Given the description of an element on the screen output the (x, y) to click on. 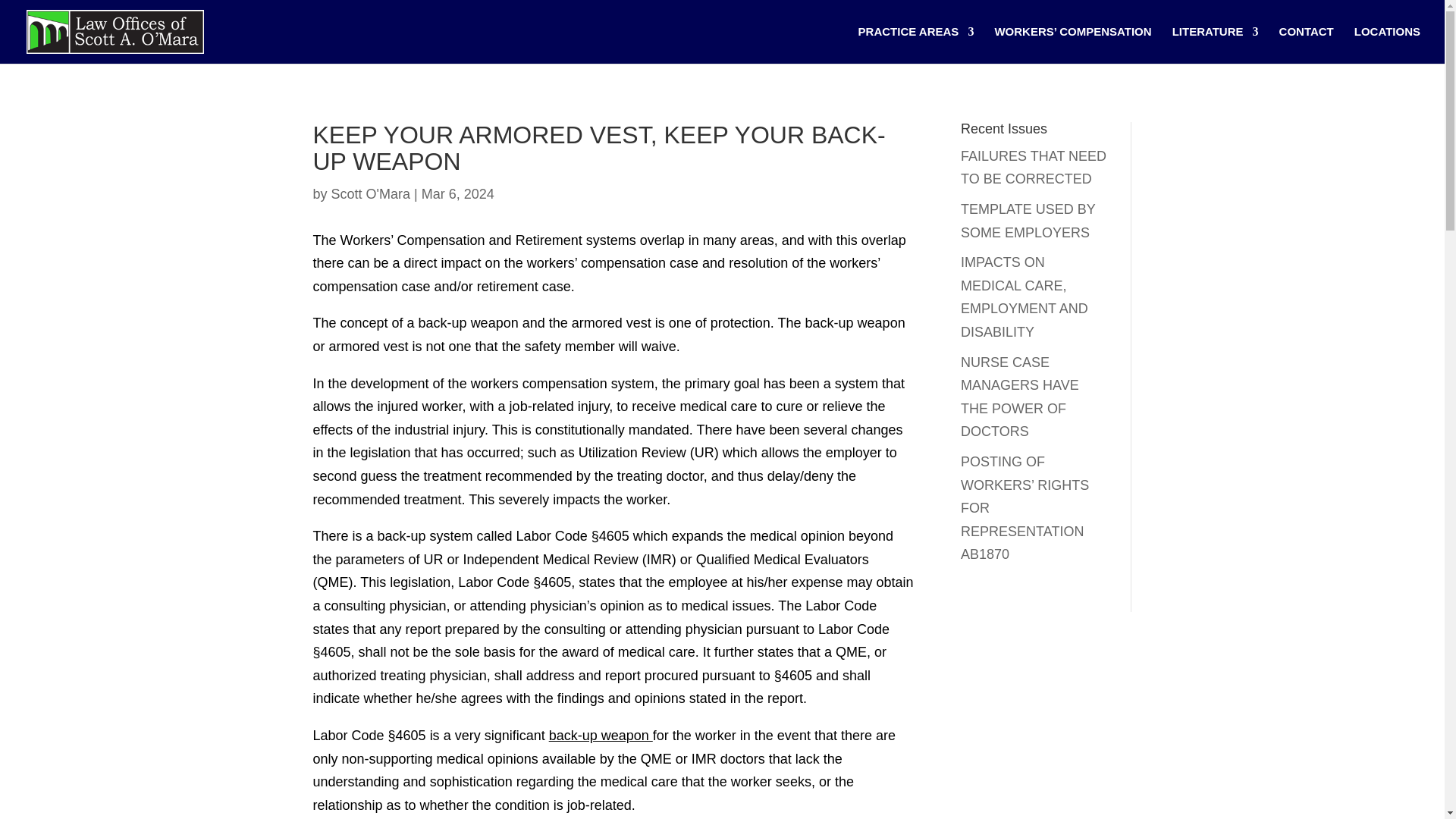
CONTACT (1306, 44)
NURSE CASE MANAGERS HAVE THE POWER OF DOCTORS (1019, 396)
PRACTICE AREAS (916, 44)
LITERATURE (1215, 44)
FAILURES THAT NEED TO BE CORRECTED (1033, 167)
Posts by Scott O'Mara (370, 193)
IMPACTS ON MEDICAL CARE, EMPLOYMENT AND DISABILITY (1023, 296)
TEMPLATE USED BY SOME EMPLOYERS (1027, 220)
Scott O'Mara (370, 193)
LOCATIONS (1387, 44)
